Given the description of an element on the screen output the (x, y) to click on. 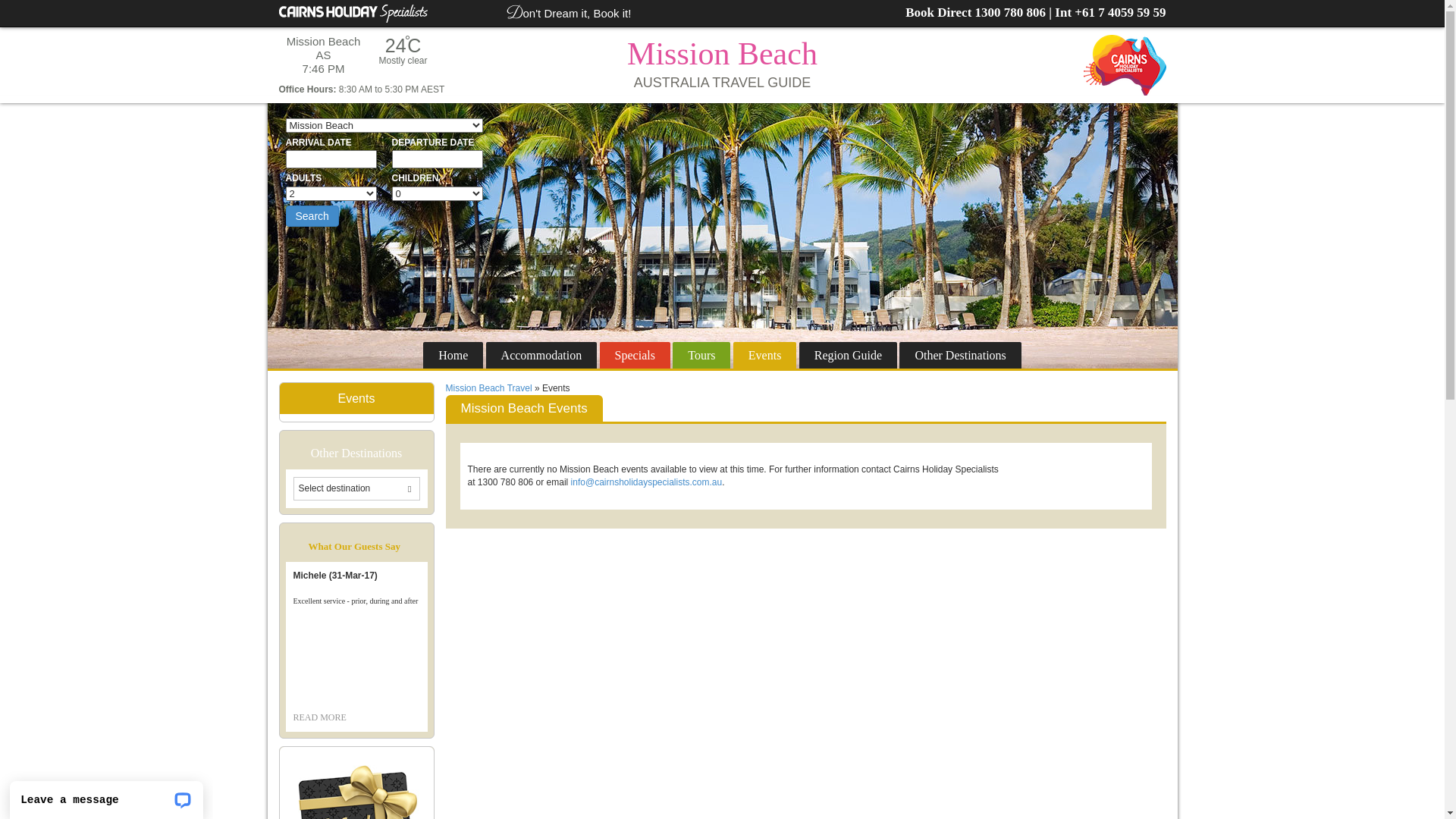
Search Element type: text (311, 215)
+61 7 4059 59 59 Element type: text (1119, 12)
Mission Beach Travel Element type: text (488, 387)
Specials Element type: text (634, 355)
Region Guide Element type: text (848, 355)
Cairns Holiday Specialists Element type: hover (353, 13)
READ MORE Element type: text (318, 717)
Home Element type: text (453, 355)
info@cairnsholidayspecialists.com.au Element type: text (646, 481)
1300 780 806 Element type: text (1010, 12)
Events Element type: text (765, 355)
Tours Element type: text (701, 355)
Other Destinations Element type: text (959, 355)
Accommodation Element type: text (541, 355)
